Given the description of an element on the screen output the (x, y) to click on. 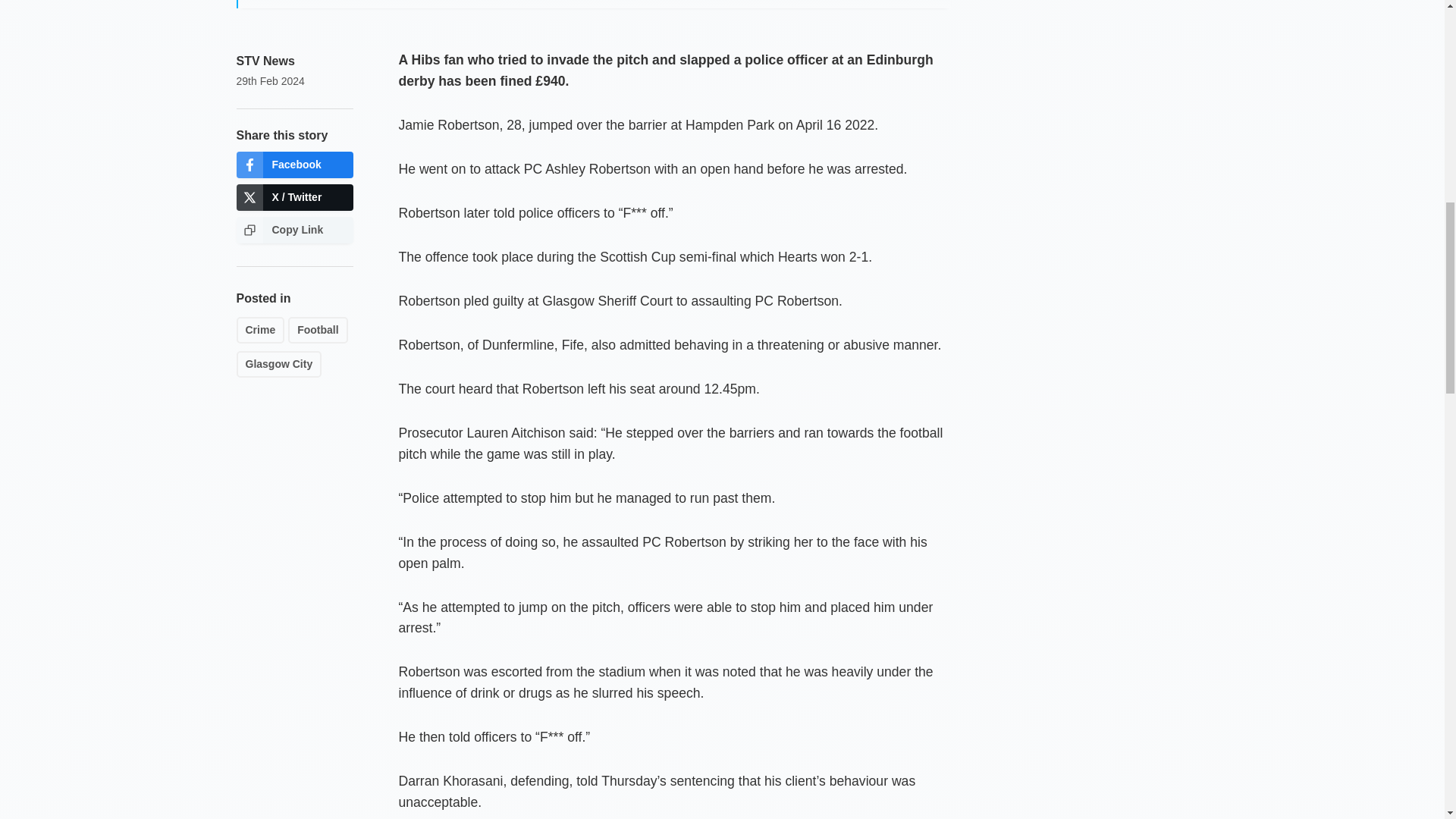
Facebook (294, 164)
